Given the description of an element on the screen output the (x, y) to click on. 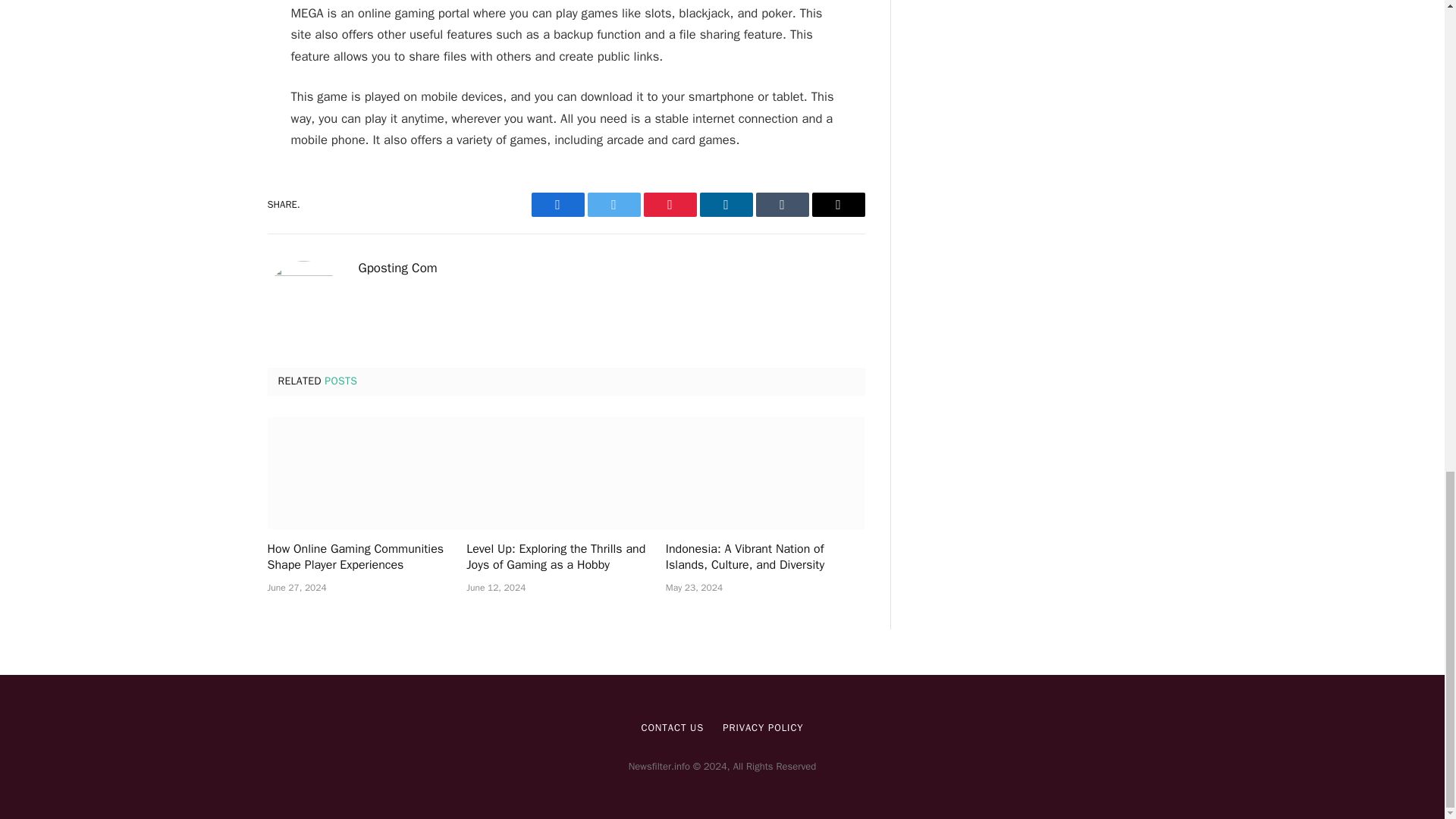
Facebook (557, 204)
Twitter (613, 204)
